Given the description of an element on the screen output the (x, y) to click on. 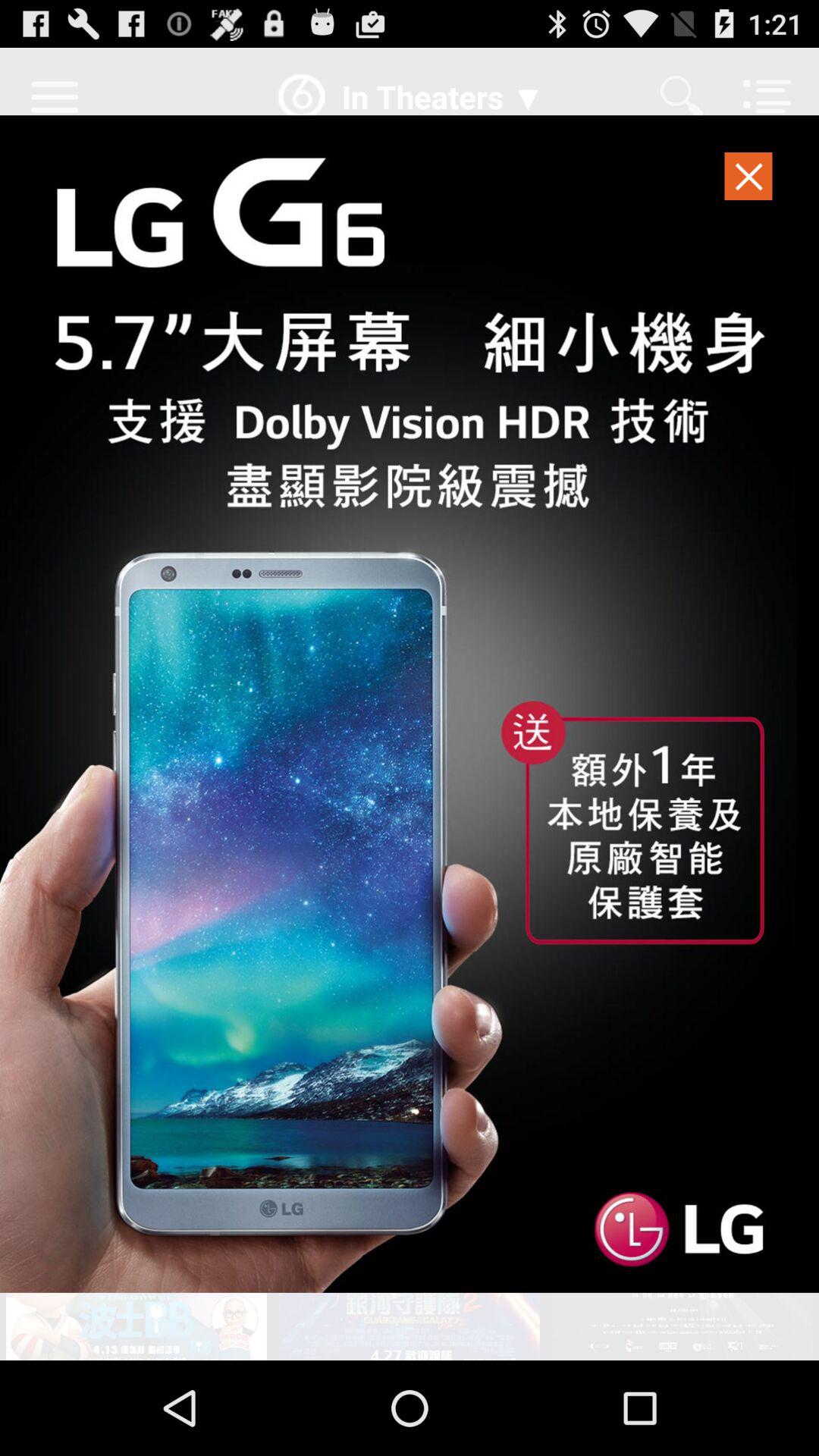
go to image (409, 703)
